Given the description of an element on the screen output the (x, y) to click on. 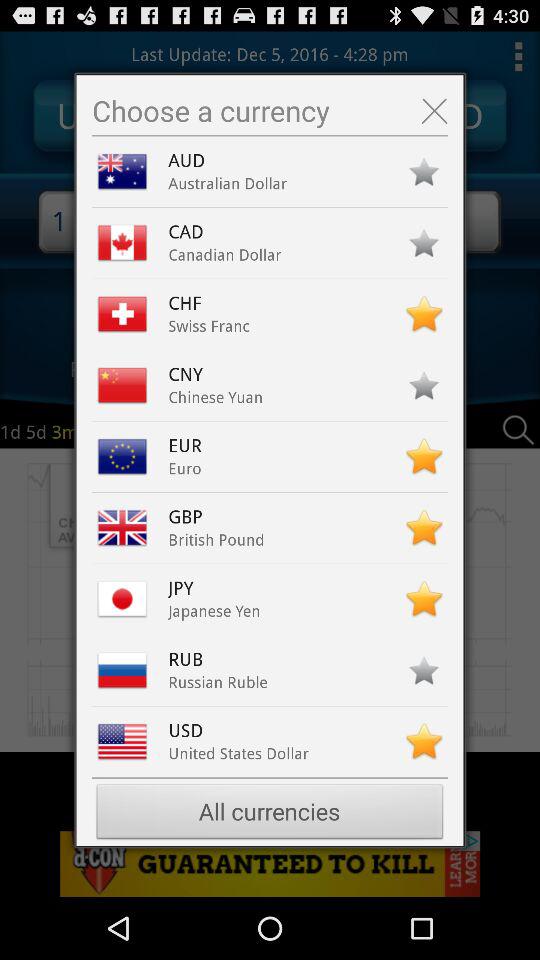
turn off the item below the canadian dollar app (189, 303)
